Given the description of an element on the screen output the (x, y) to click on. 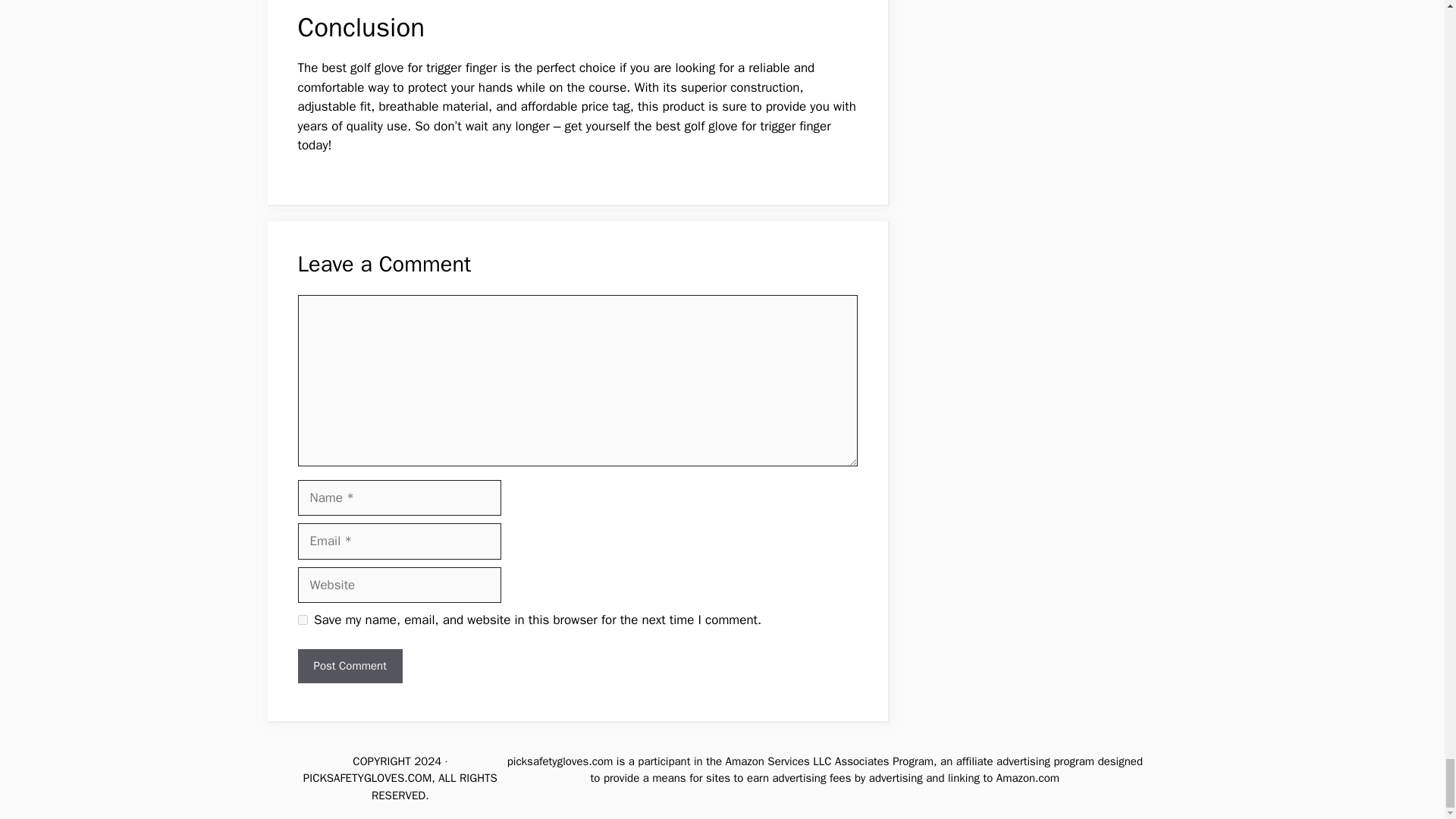
Post Comment (349, 666)
yes (302, 619)
